Given the description of an element on the screen output the (x, y) to click on. 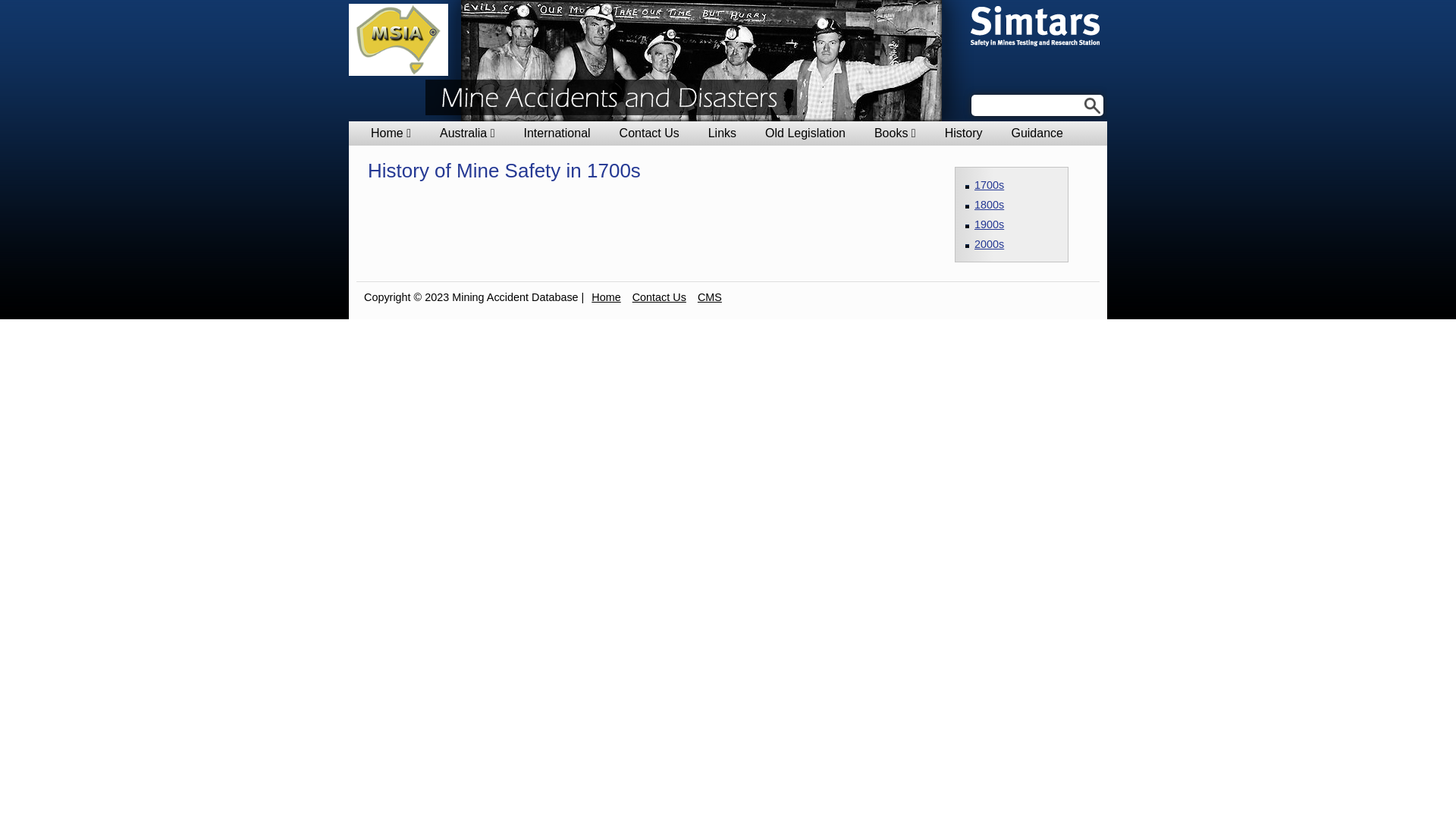
1800s Element type: text (989, 204)
Links Element type: text (722, 133)
Old Legislation Element type: text (805, 133)
2000s Element type: text (989, 244)
International Element type: text (557, 133)
History Element type: text (963, 133)
1700s Element type: text (989, 184)
CMS Element type: text (709, 297)
Home Element type: text (605, 297)
Guidance Element type: text (1036, 133)
Contact Us Element type: text (659, 297)
Contact Us Element type: text (649, 133)
1900s Element type: text (989, 224)
